Given the description of an element on the screen output the (x, y) to click on. 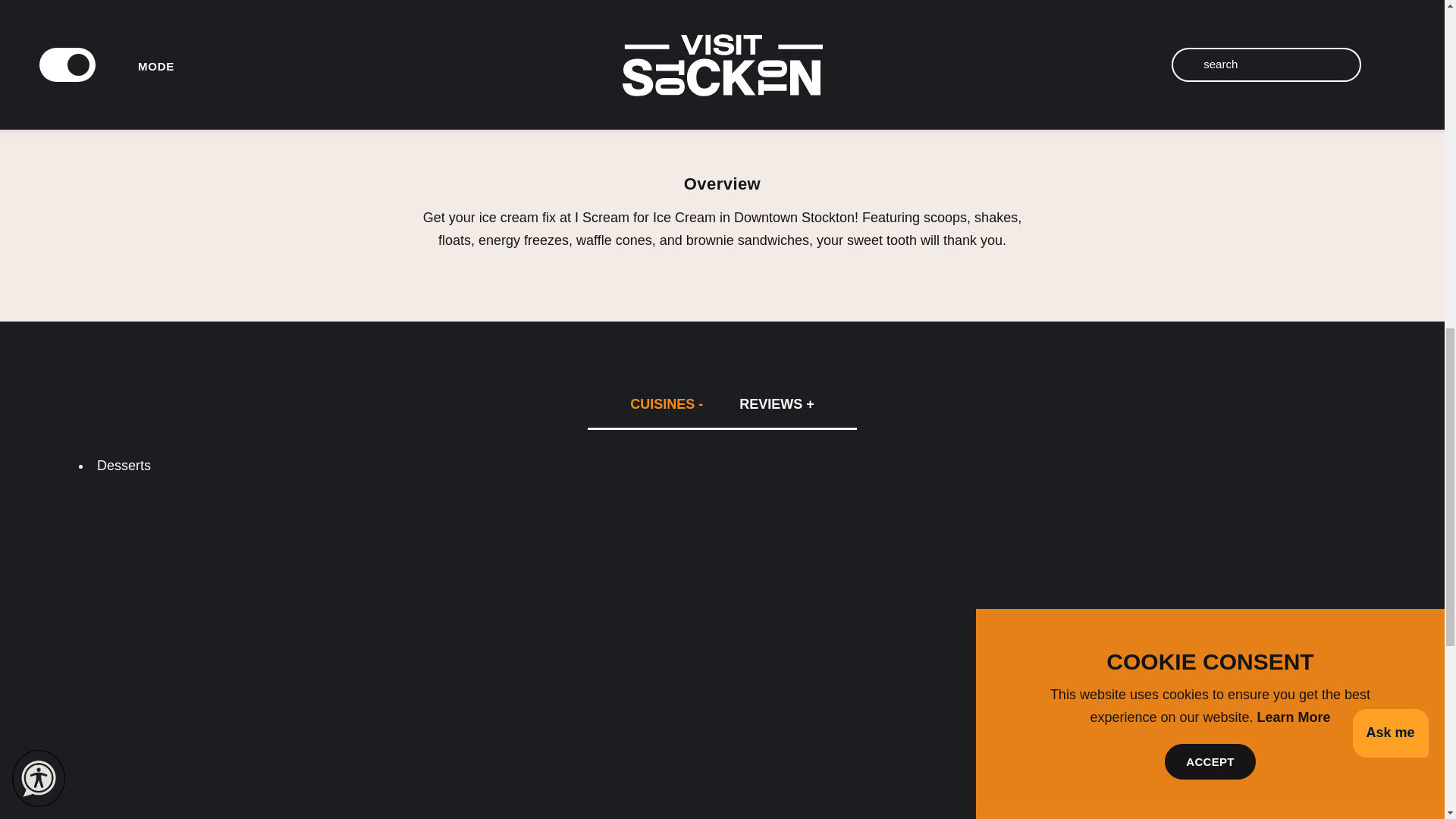
REVIEWS (776, 403)
CUISINES (665, 403)
